Given the description of an element on the screen output the (x, y) to click on. 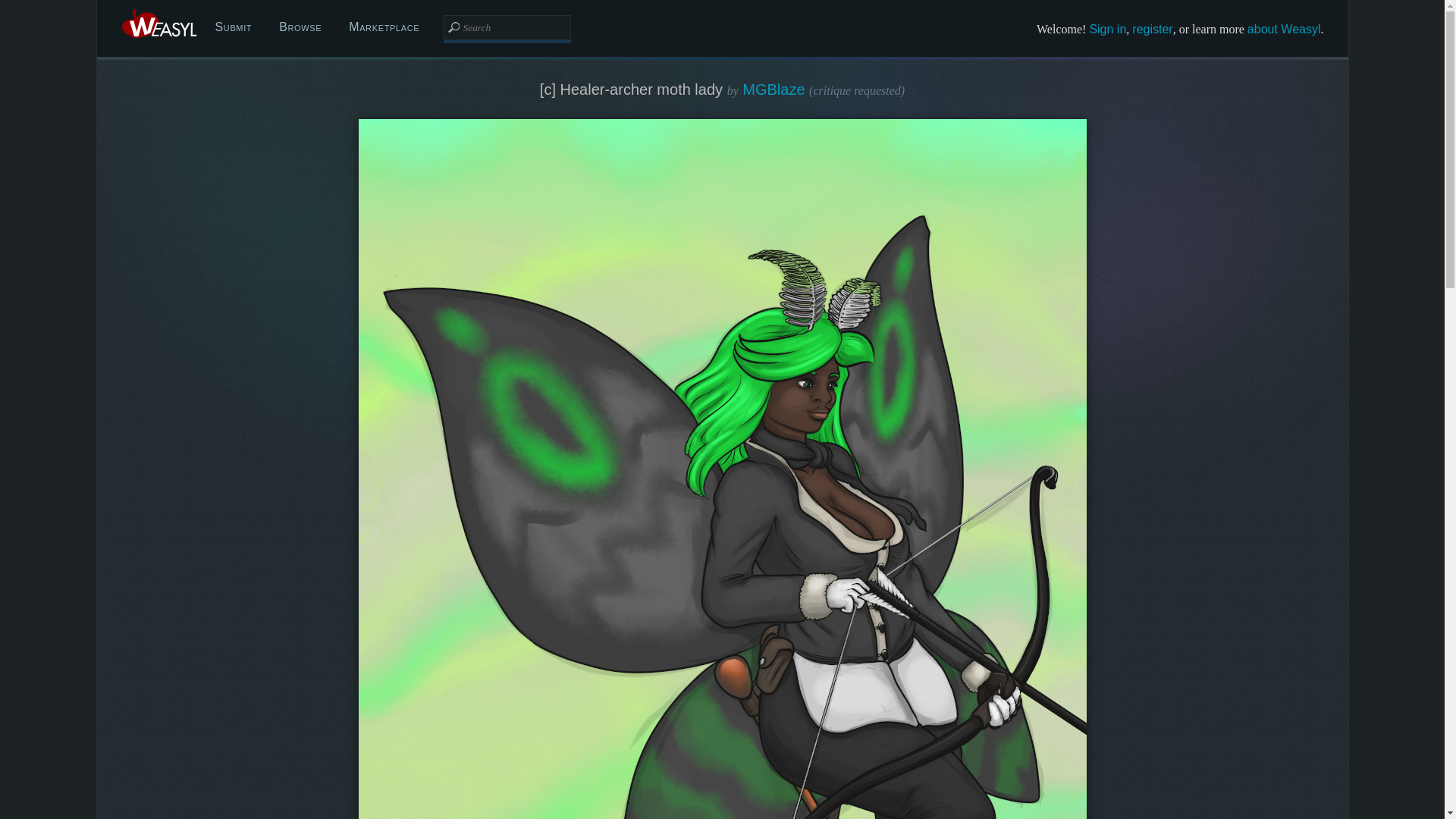
Search Weasyl (507, 27)
Submit (233, 27)
Marketplace (383, 27)
Sign in (1107, 29)
Browse (299, 27)
about Weasyl (1283, 29)
register (1152, 29)
MGBlaze (773, 89)
